Given the description of an element on the screen output the (x, y) to click on. 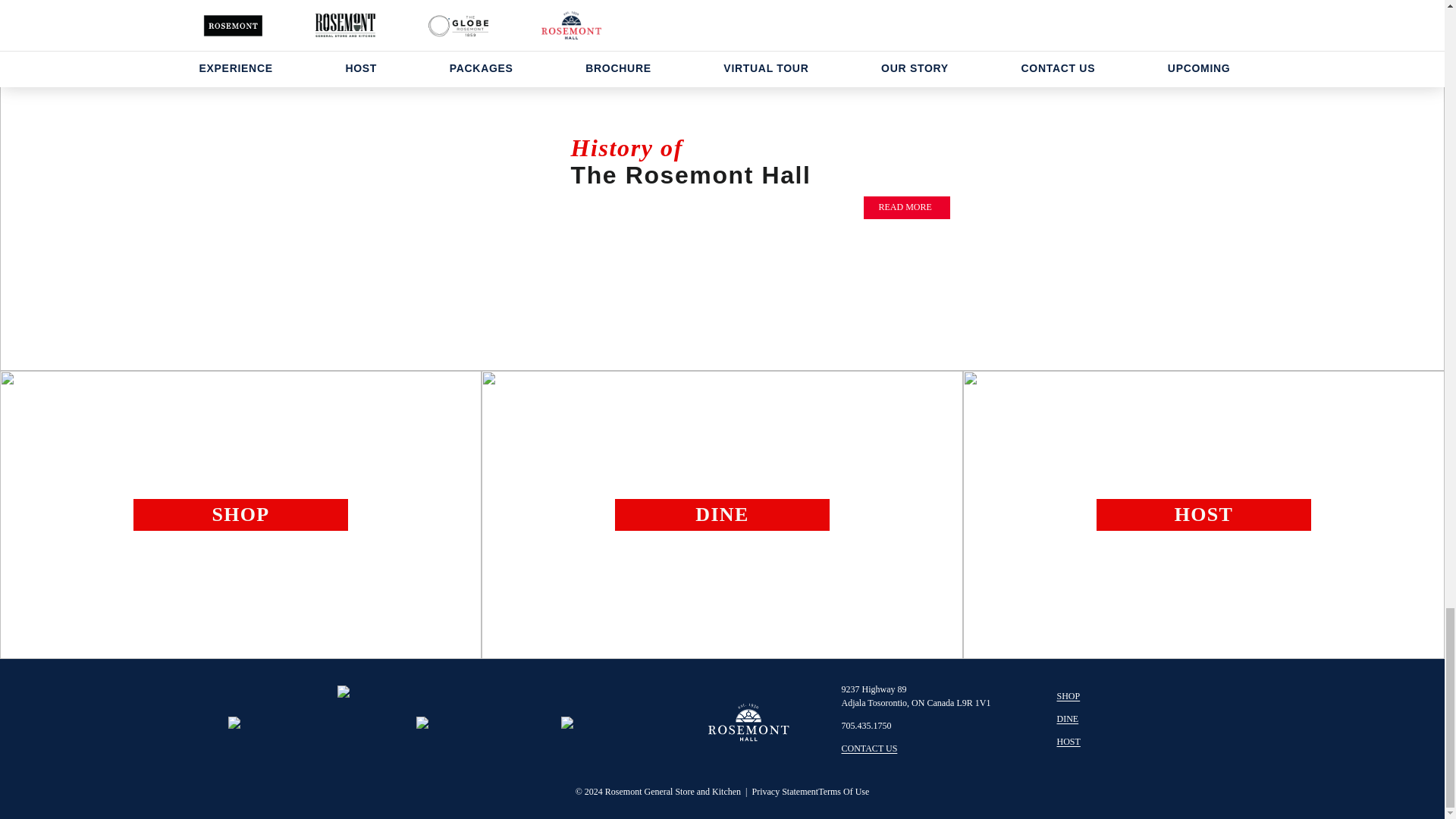
Rosemont Hall (1076, 741)
Rosemontgsk Landing One (1076, 695)
The Globe (1075, 718)
Contact Us (876, 748)
